Given the description of an element on the screen output the (x, y) to click on. 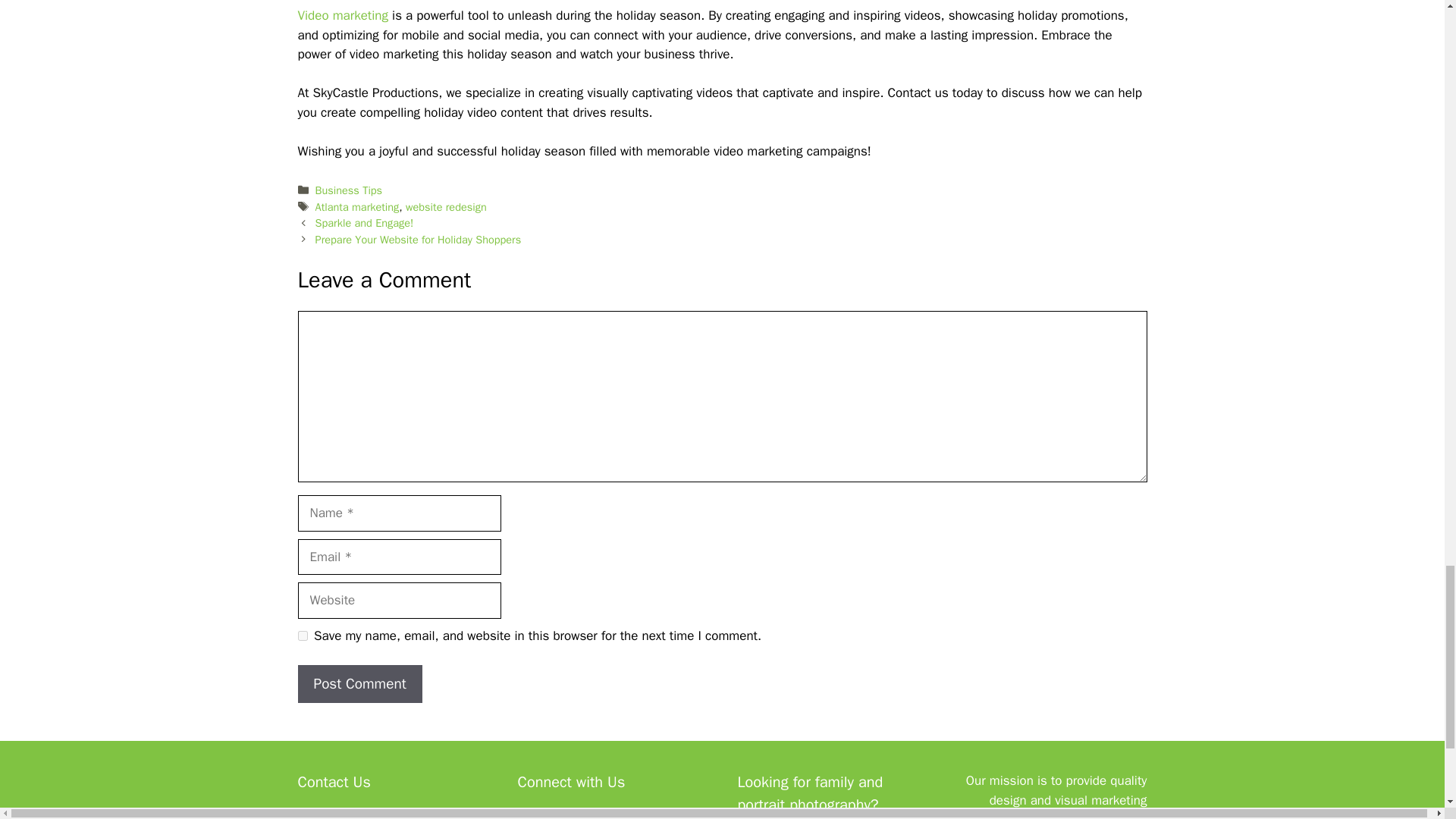
Post Comment (359, 684)
Pinterest (657, 817)
LinkedIn (593, 817)
Prepare Your Website for Holiday Shoppers (418, 239)
Facebook (529, 817)
Instagram (561, 817)
website redesign (446, 206)
Video marketing (342, 15)
YouTube (625, 817)
Sparkle and Engage! (364, 223)
